Given the description of an element on the screen output the (x, y) to click on. 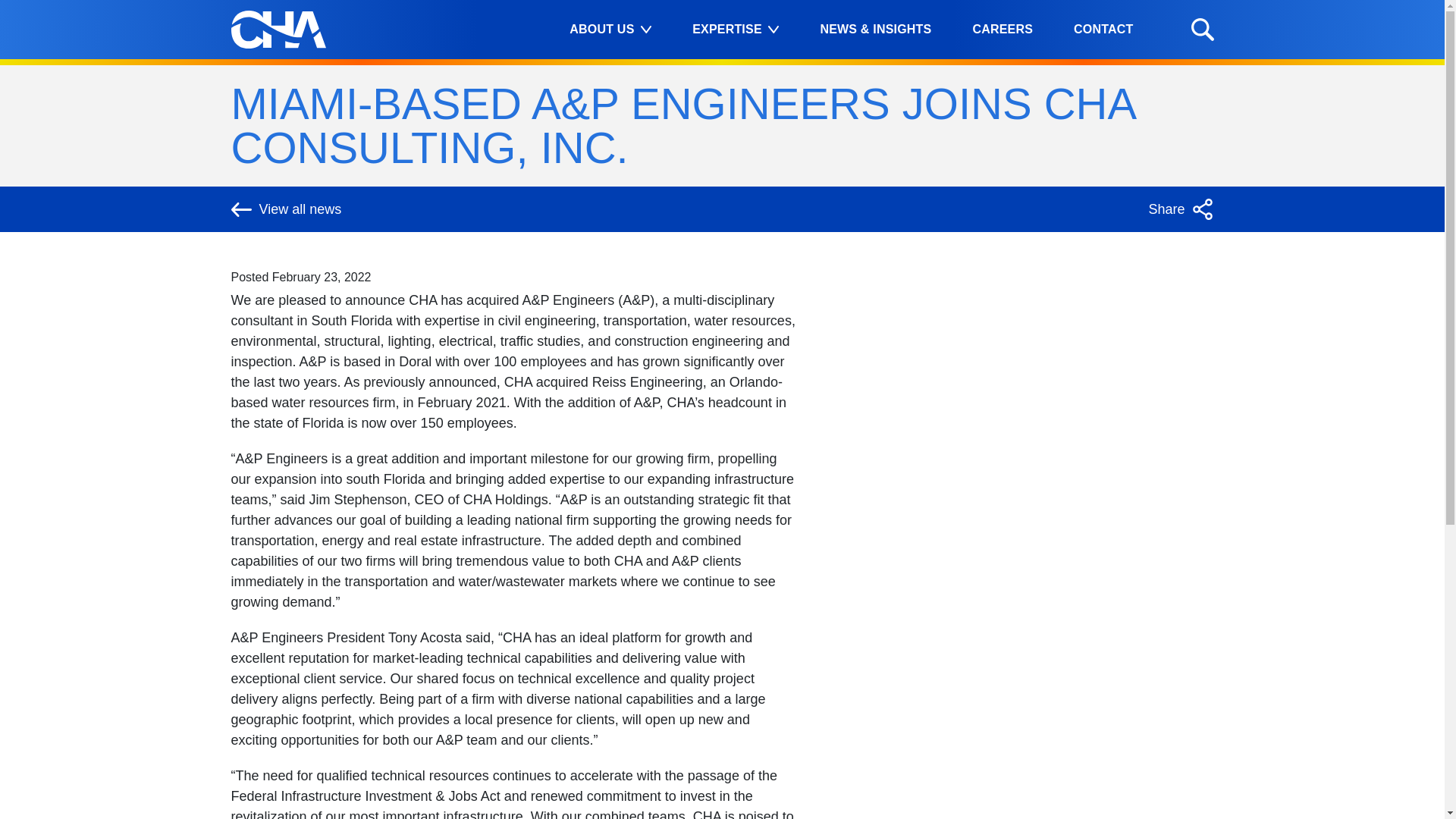
EXPERTISE (734, 29)
CONTACT (1102, 29)
CAREERS (1002, 29)
ABOUT US (610, 29)
